Given the description of an element on the screen output the (x, y) to click on. 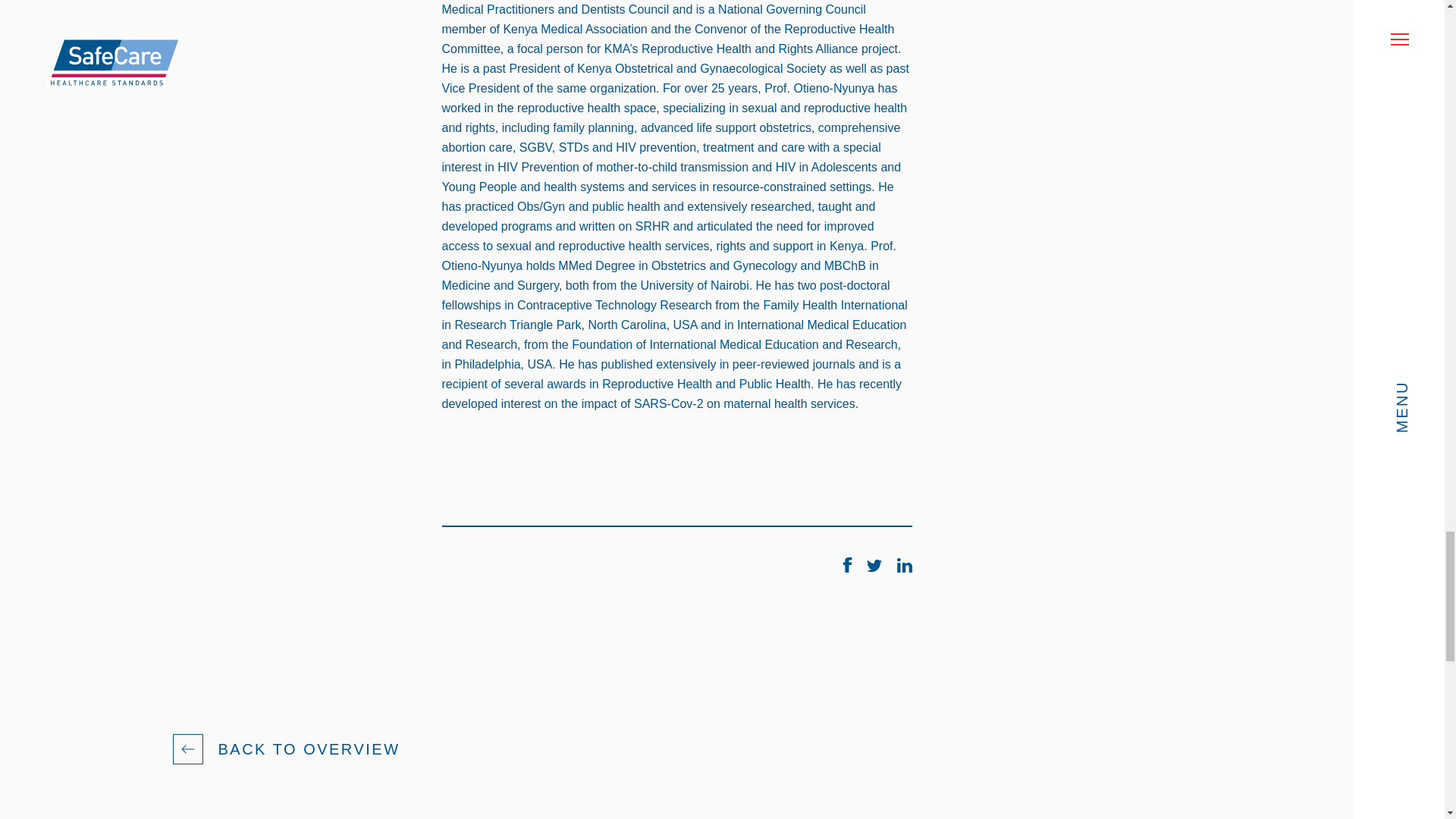
BACK TO OVERVIEW (309, 749)
Share on Facebook (849, 567)
Share on Linkedin (903, 567)
Share on Twitter (875, 567)
